Given the description of an element on the screen output the (x, y) to click on. 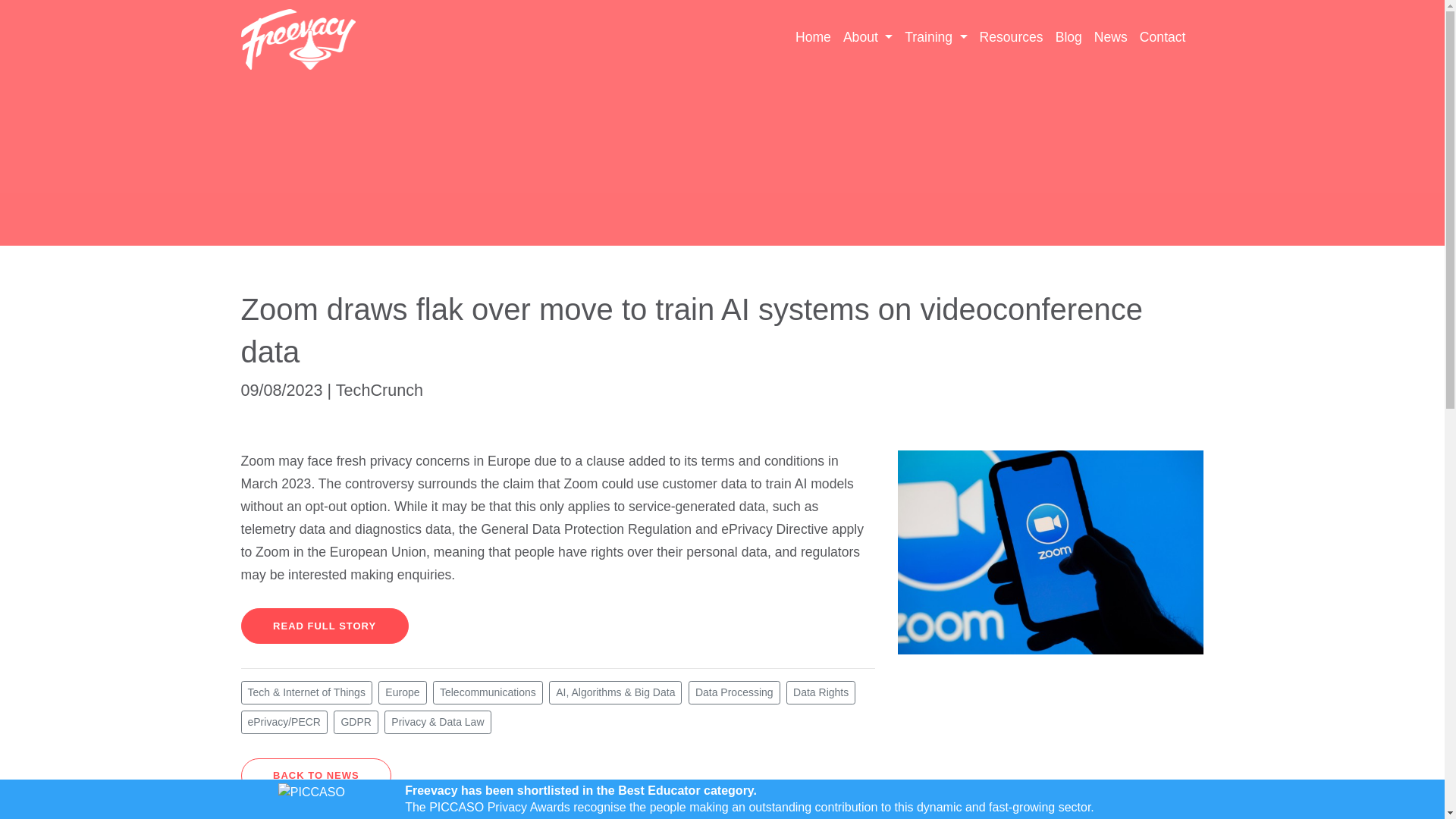
Europe (402, 692)
Blog (1068, 37)
Resources (1011, 37)
Data Processing (734, 692)
News (1110, 37)
Training (935, 37)
Telecommunications (487, 692)
Data Rights (821, 692)
READ FULL STORY (325, 625)
GDPR (355, 721)
